Given the description of an element on the screen output the (x, y) to click on. 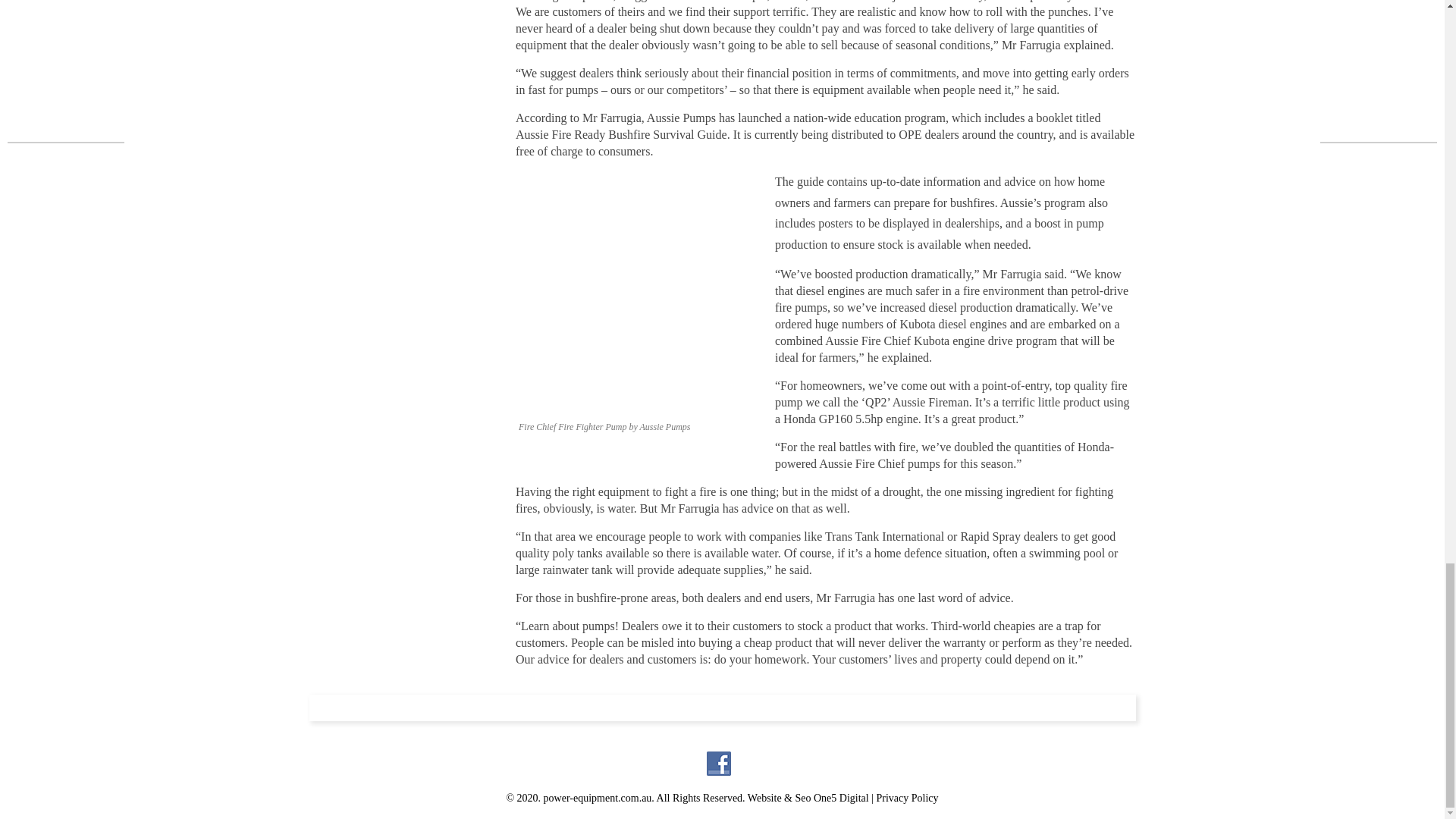
Follow Us on Facebook (718, 763)
One5 Digital (841, 797)
Privacy Policy (907, 797)
